Given the description of an element on the screen output the (x, y) to click on. 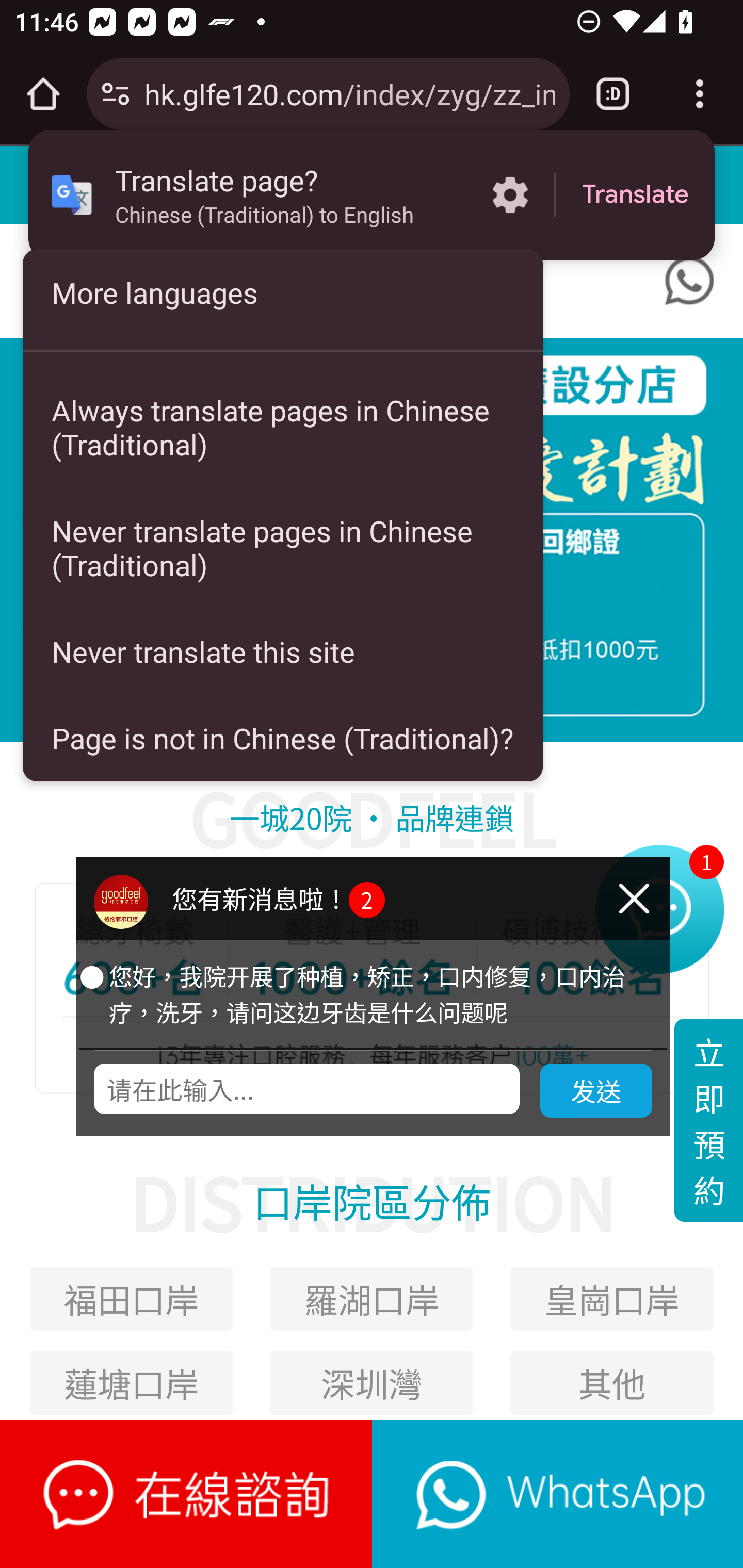
More languages (283, 292)
Always translate pages in Chinese (Traditional) (283, 426)
Never translate pages in Chinese (Traditional) (283, 547)
Never translate this site (283, 651)
Page is not in Chinese (Traditional)? (283, 737)
